Given the description of an element on the screen output the (x, y) to click on. 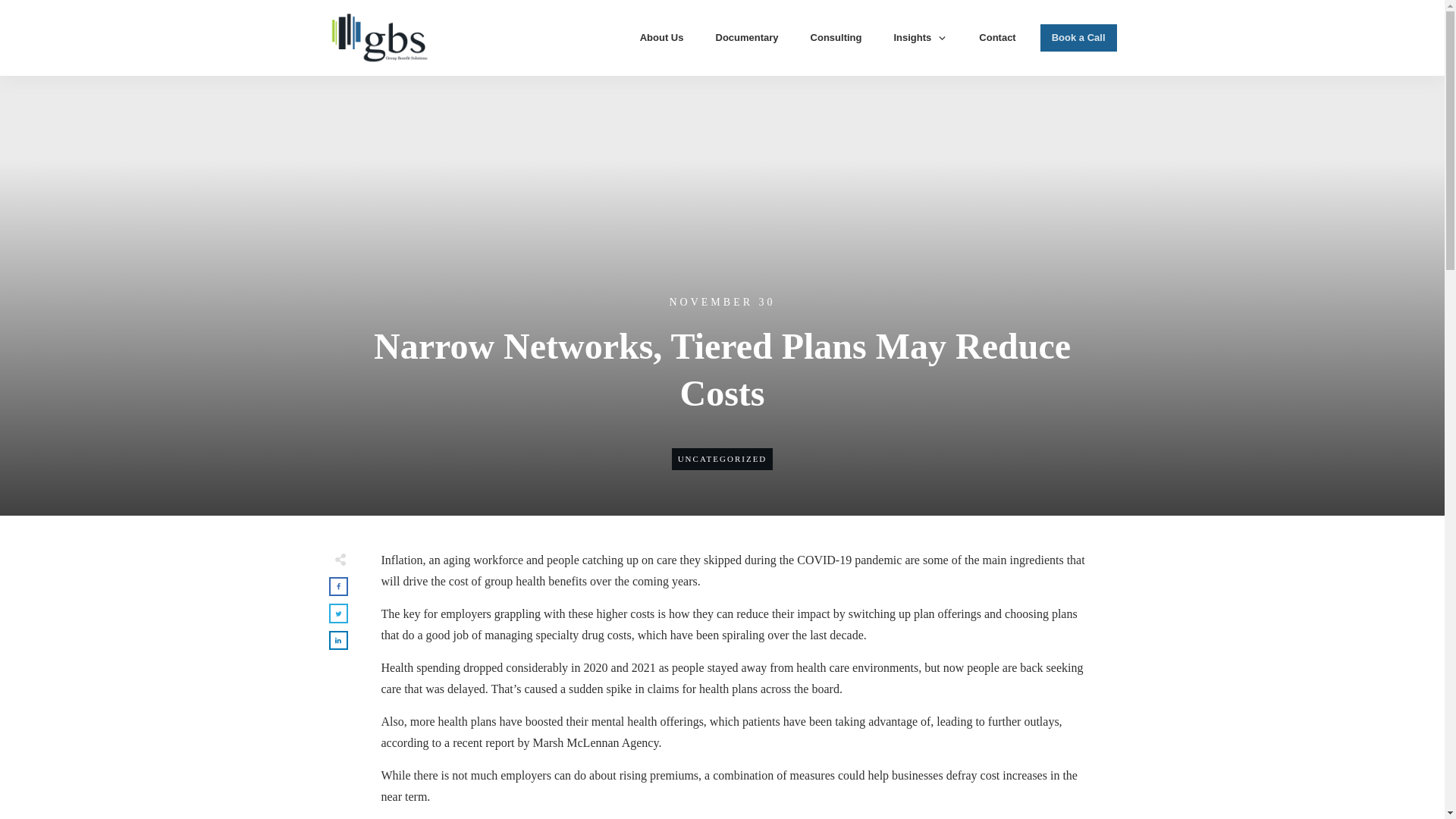
Uncategorized (722, 458)
About Us (662, 37)
Contact (996, 37)
Consulting (835, 37)
Insights (920, 37)
Documentary (747, 37)
Book a Call (1078, 37)
UNCATEGORIZED (722, 458)
